Given the description of an element on the screen output the (x, y) to click on. 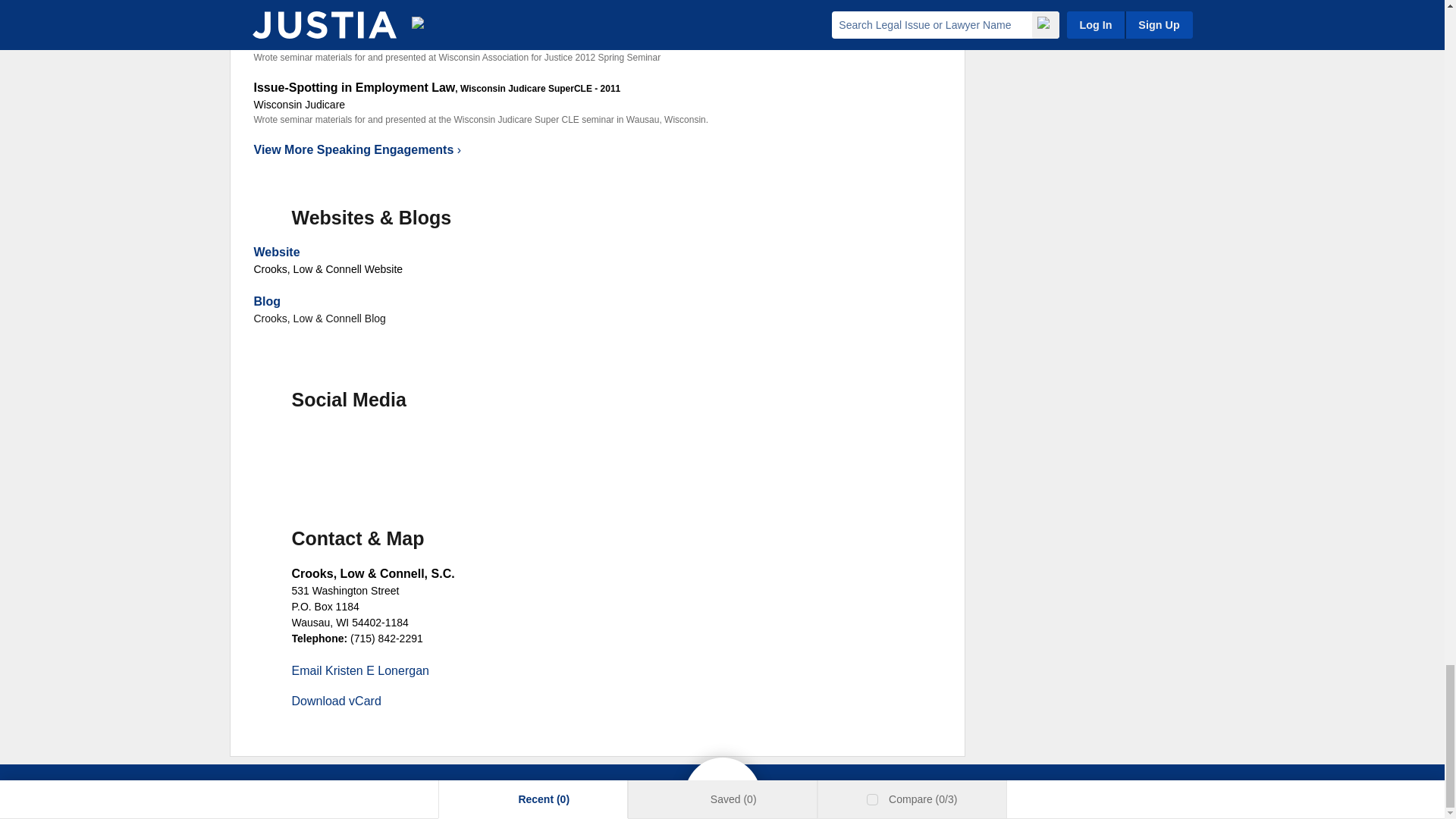
Kristen E Lonergan on Facebook (275, 448)
Kristen E Lonergan's Avvo Profile (435, 448)
Website (276, 251)
 Justia Profile (381, 448)
Kristen E Lonergan on LinkedIn (328, 448)
